Given the description of an element on the screen output the (x, y) to click on. 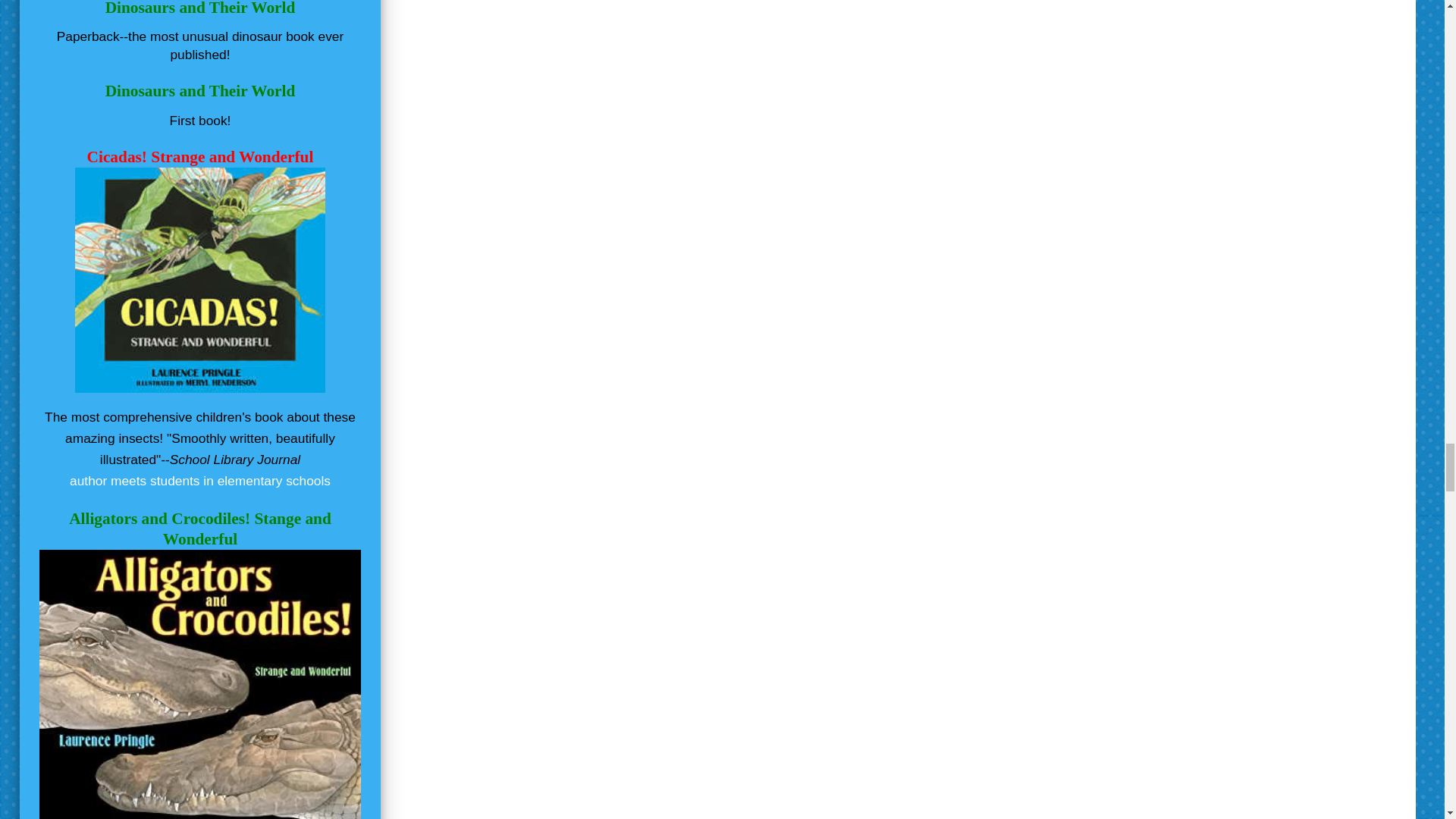
Dinosaurs and Their World (199, 8)
Dinosaurs and Their World (199, 90)
Alligators and Crocodiles! Stange and Wonderful (199, 528)
Cicadas! Strange and Wonderful (200, 157)
